Given the description of an element on the screen output the (x, y) to click on. 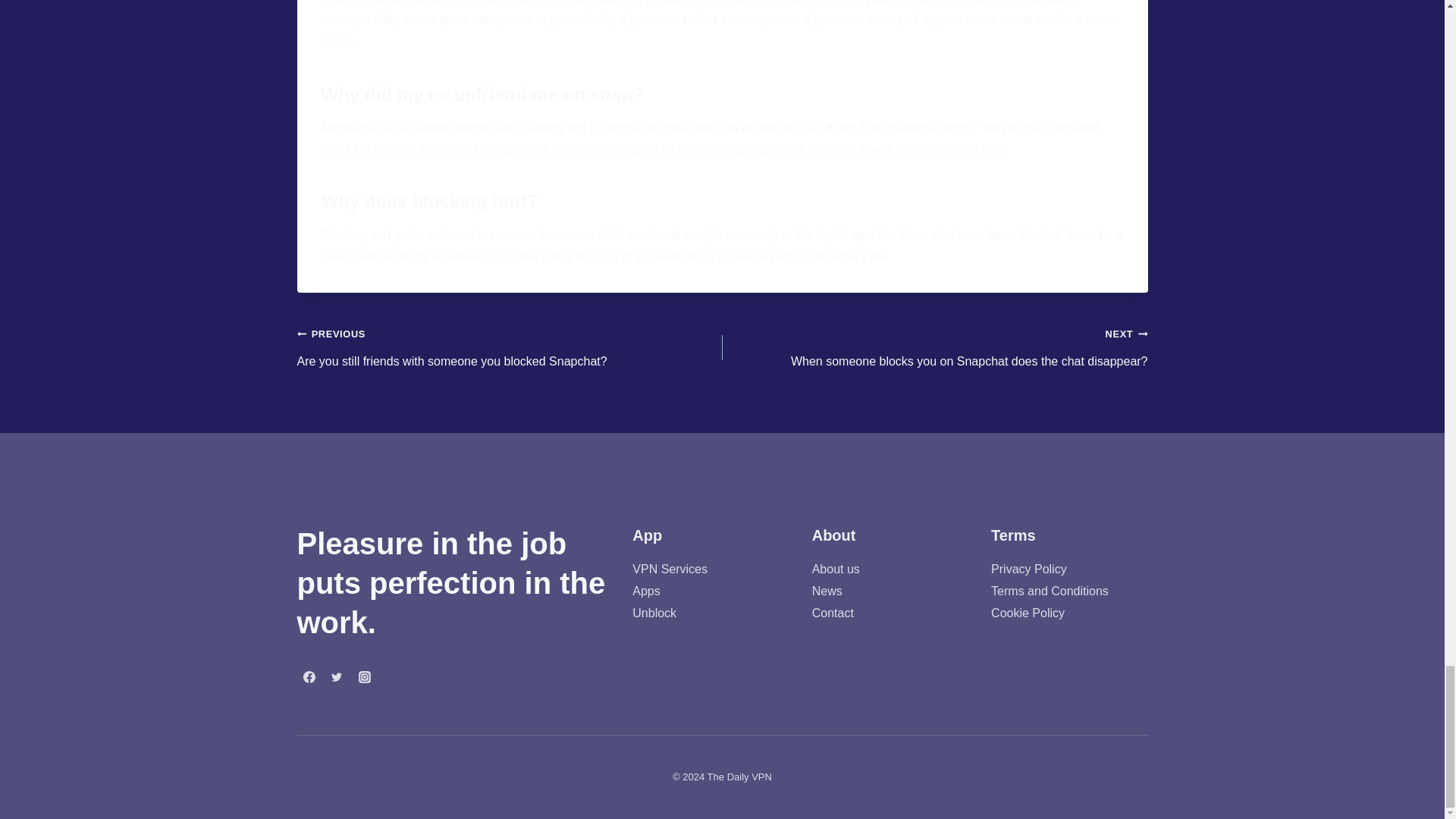
Contact (832, 612)
VPN Services (669, 568)
About us (836, 568)
Terms and Conditions (1049, 590)
Cookie Policy (1027, 612)
Privacy Policy (1029, 568)
Apps (645, 590)
Unblock (654, 612)
